Given the description of an element on the screen output the (x, y) to click on. 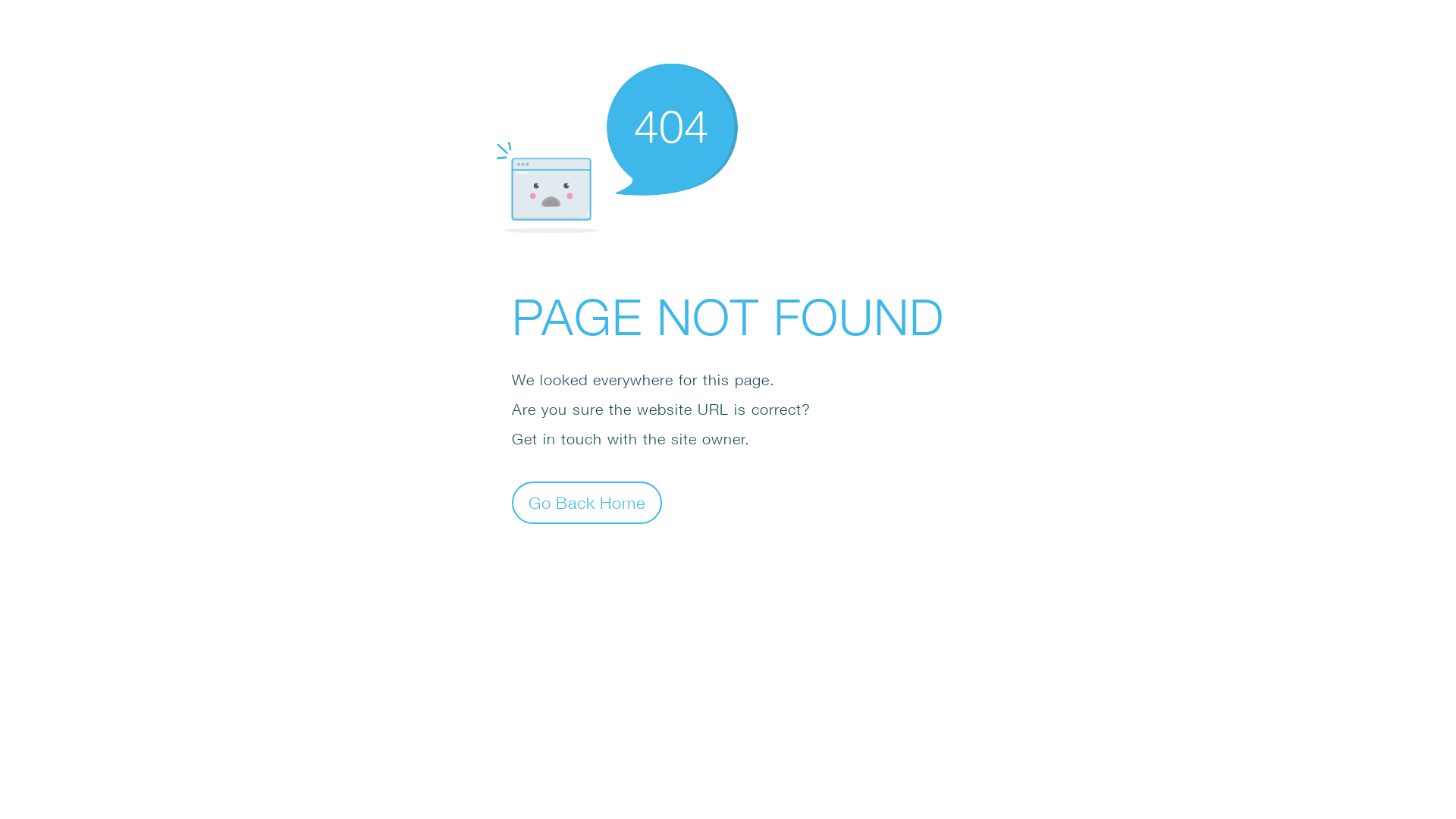
Go Back Home Element type: text (586, 502)
